Given the description of an element on the screen output the (x, y) to click on. 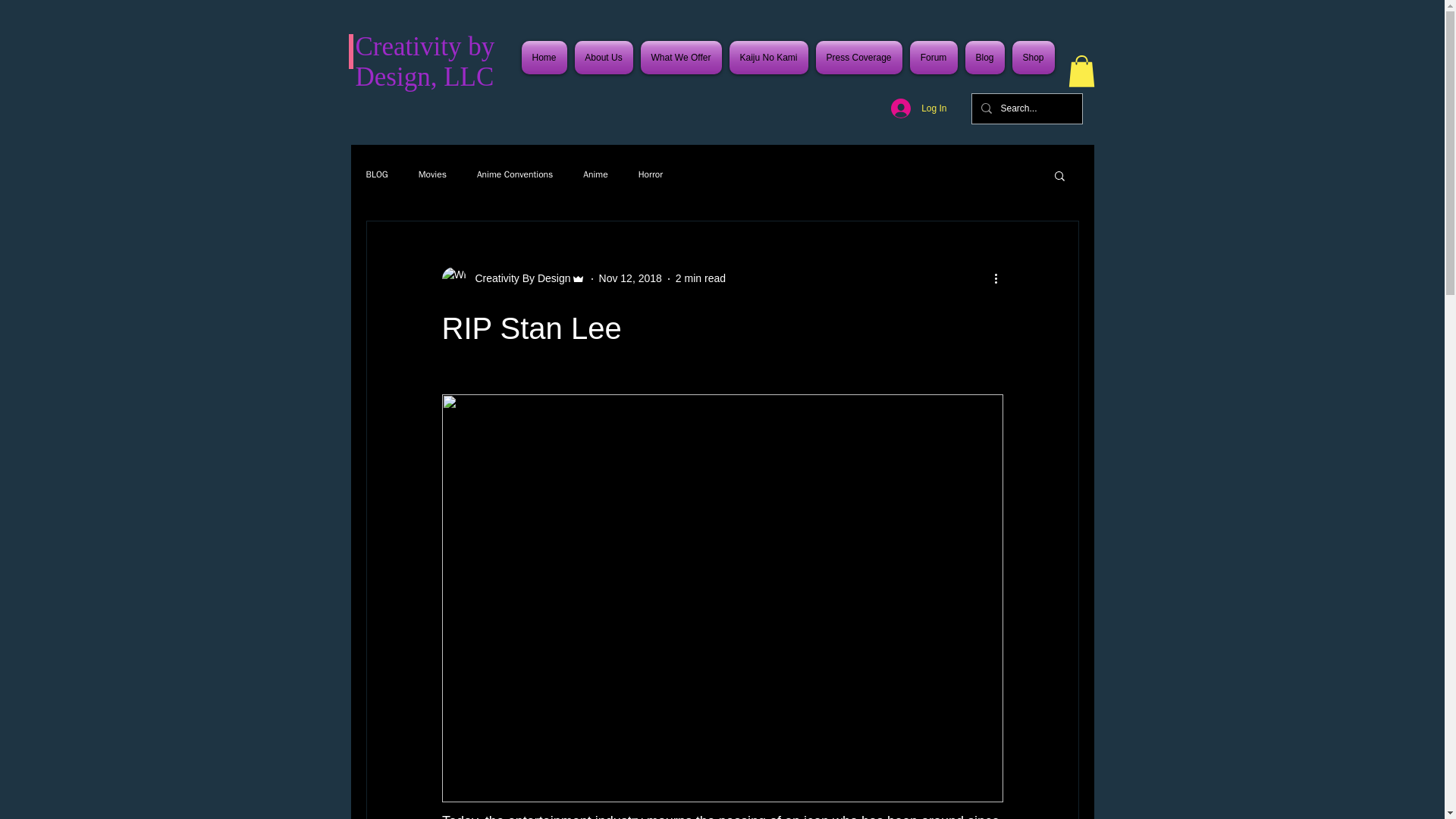
About Us (603, 57)
Home (545, 57)
Forum (932, 57)
Shop (1031, 57)
BLOG (376, 174)
Log In (918, 108)
2 min read (700, 277)
Kaiju No Kami (767, 57)
What We Offer (681, 57)
Blog (984, 57)
Anime Conventions (515, 174)
Creativity By Design (513, 278)
Anime (595, 174)
Creativity by Design, LLC (425, 61)
Press Coverage (857, 57)
